Given the description of an element on the screen output the (x, y) to click on. 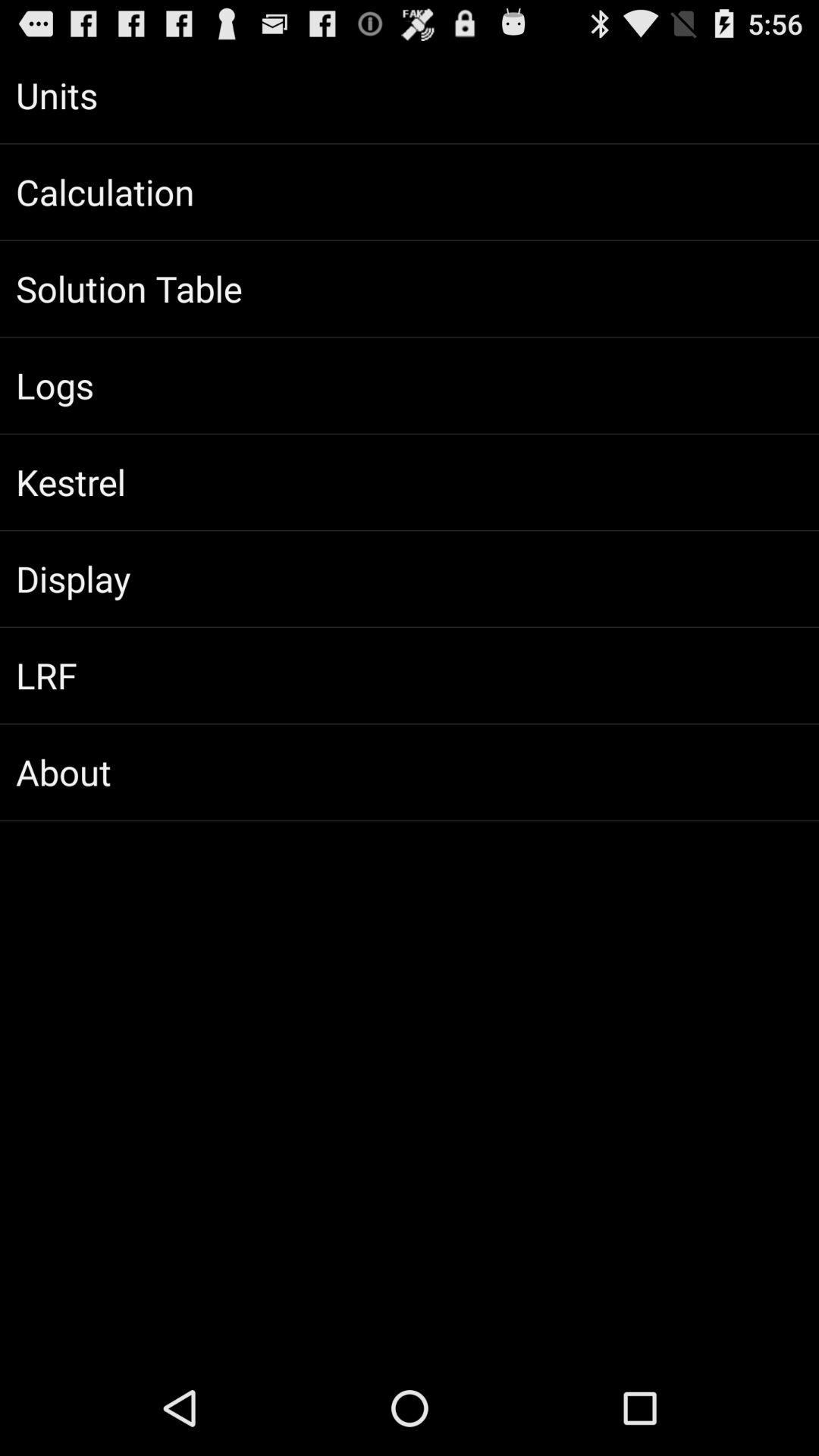
open the app above about item (409, 675)
